Given the description of an element on the screen output the (x, y) to click on. 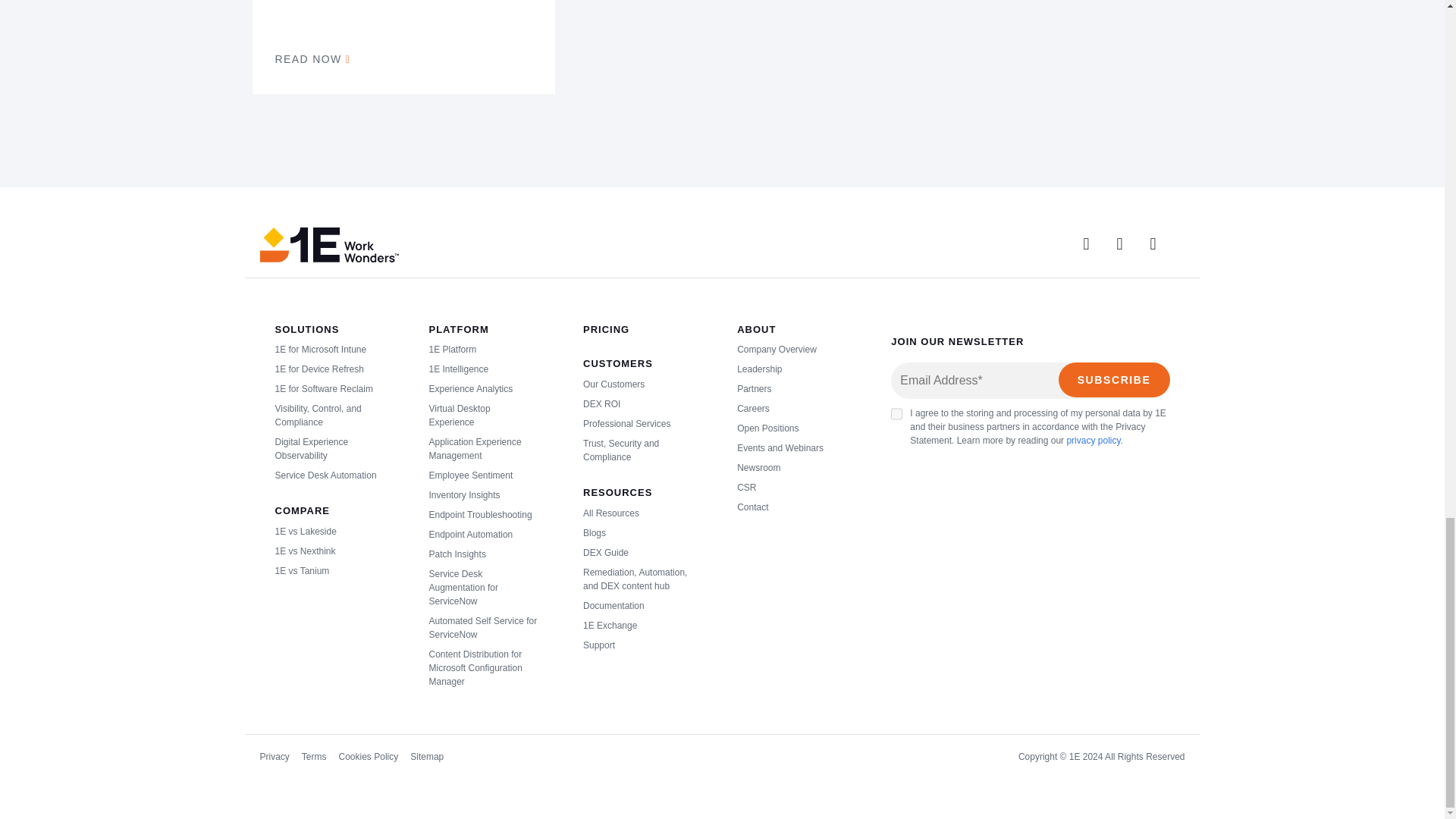
1E Logo (328, 244)
Subscribe (1114, 379)
